Given the description of an element on the screen output the (x, y) to click on. 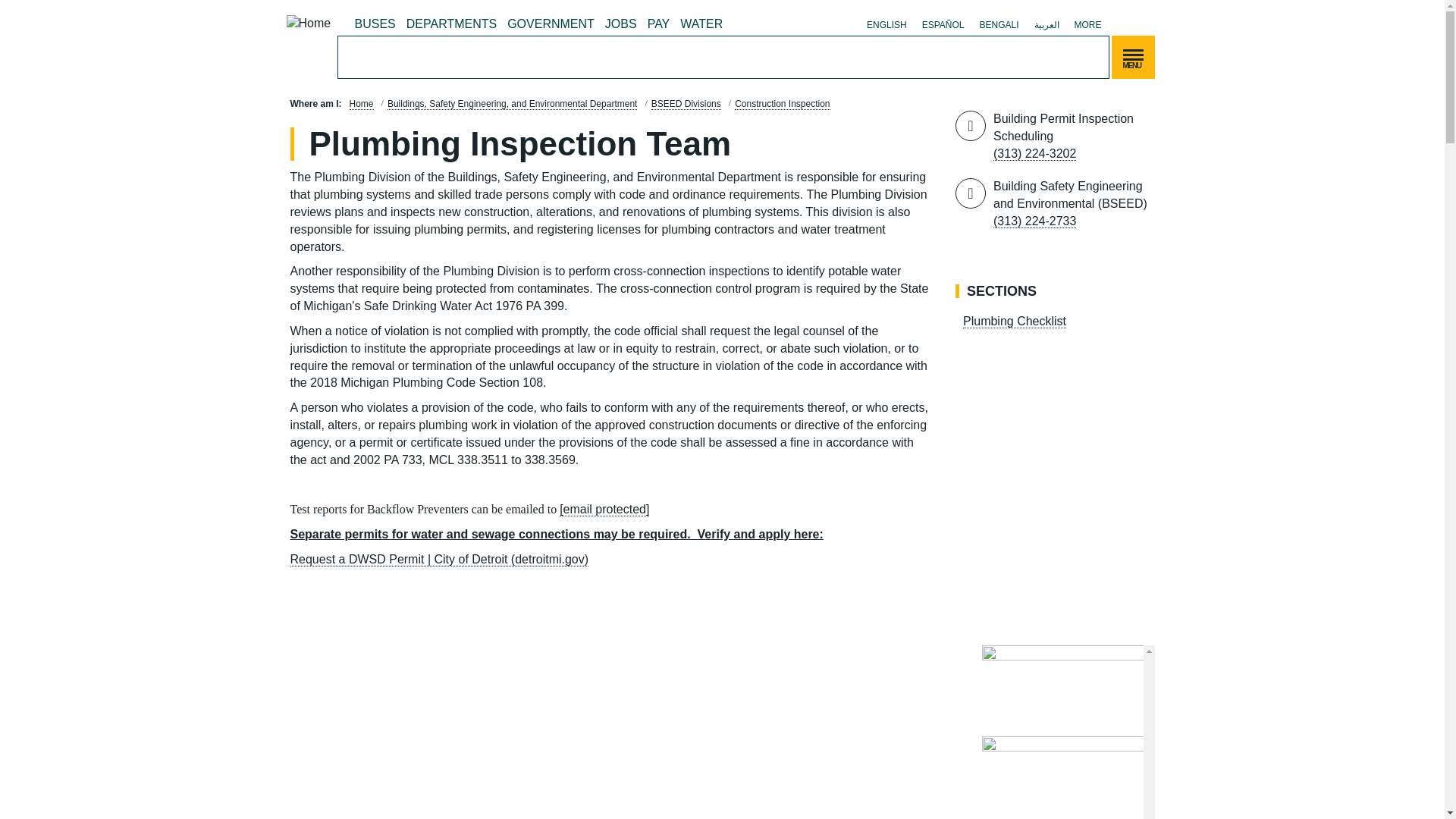
JOBS (620, 24)
GOVERNMENT (550, 24)
PAY (658, 24)
DEPARTMENTS (451, 24)
WATER (701, 24)
Find how to pay fines, bills or taxes. (658, 24)
MORE (1086, 24)
ENGLISH (886, 24)
BUSES (374, 24)
